Given the description of an element on the screen output the (x, y) to click on. 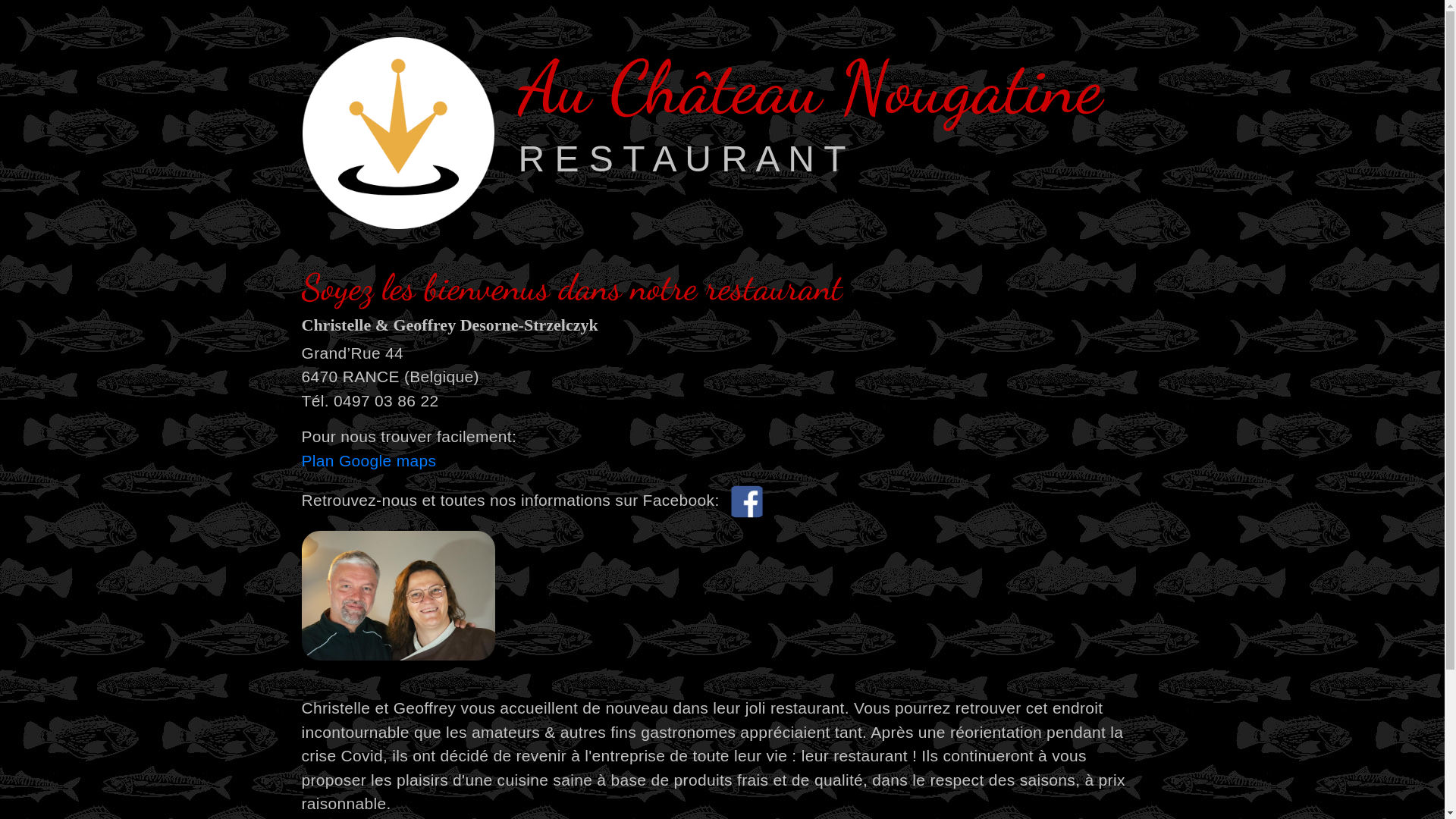
Plan Google maps Element type: text (368, 460)
